Given the description of an element on the screen output the (x, y) to click on. 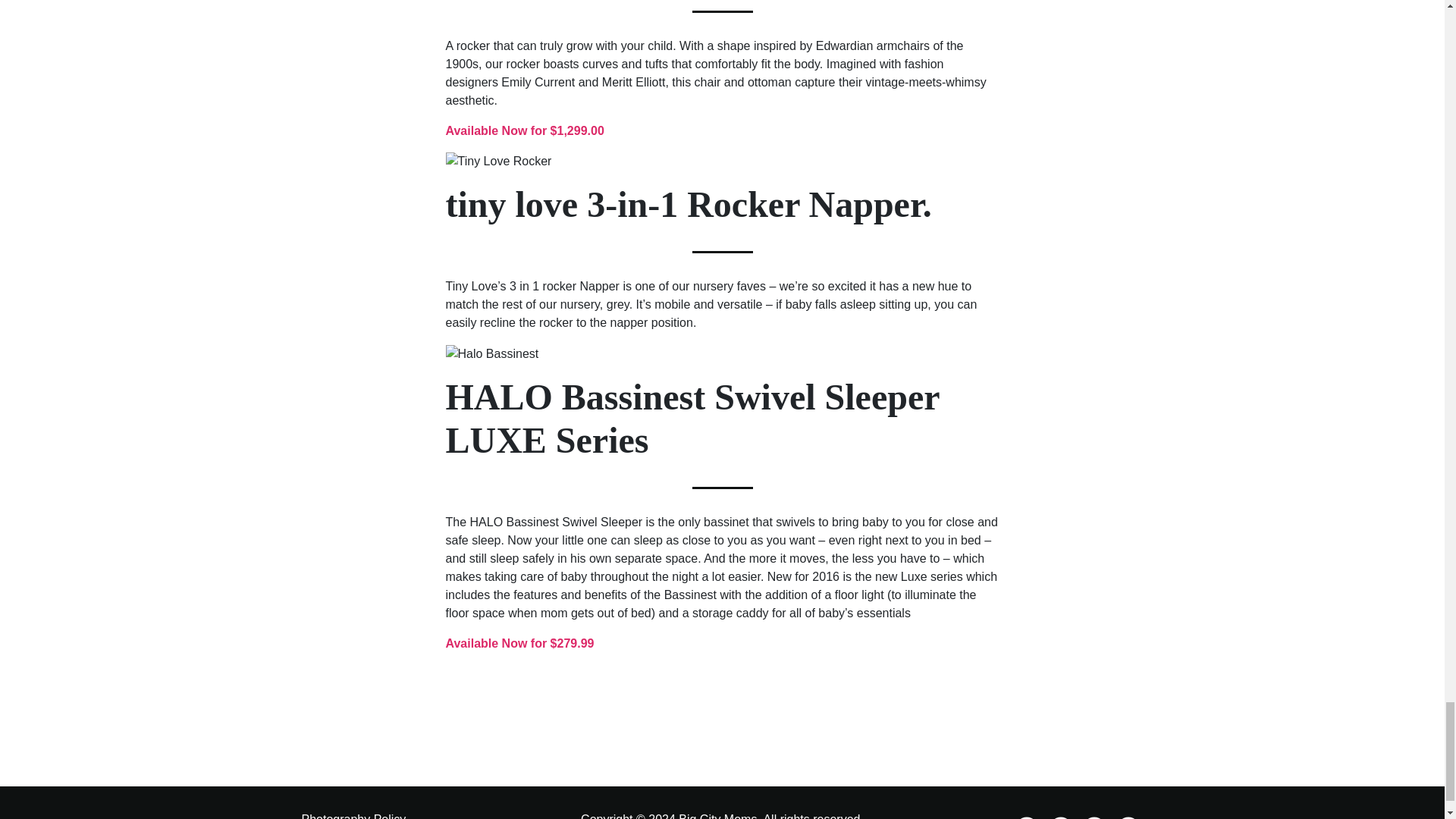
Photography Policy (353, 816)
